Given the description of an element on the screen output the (x, y) to click on. 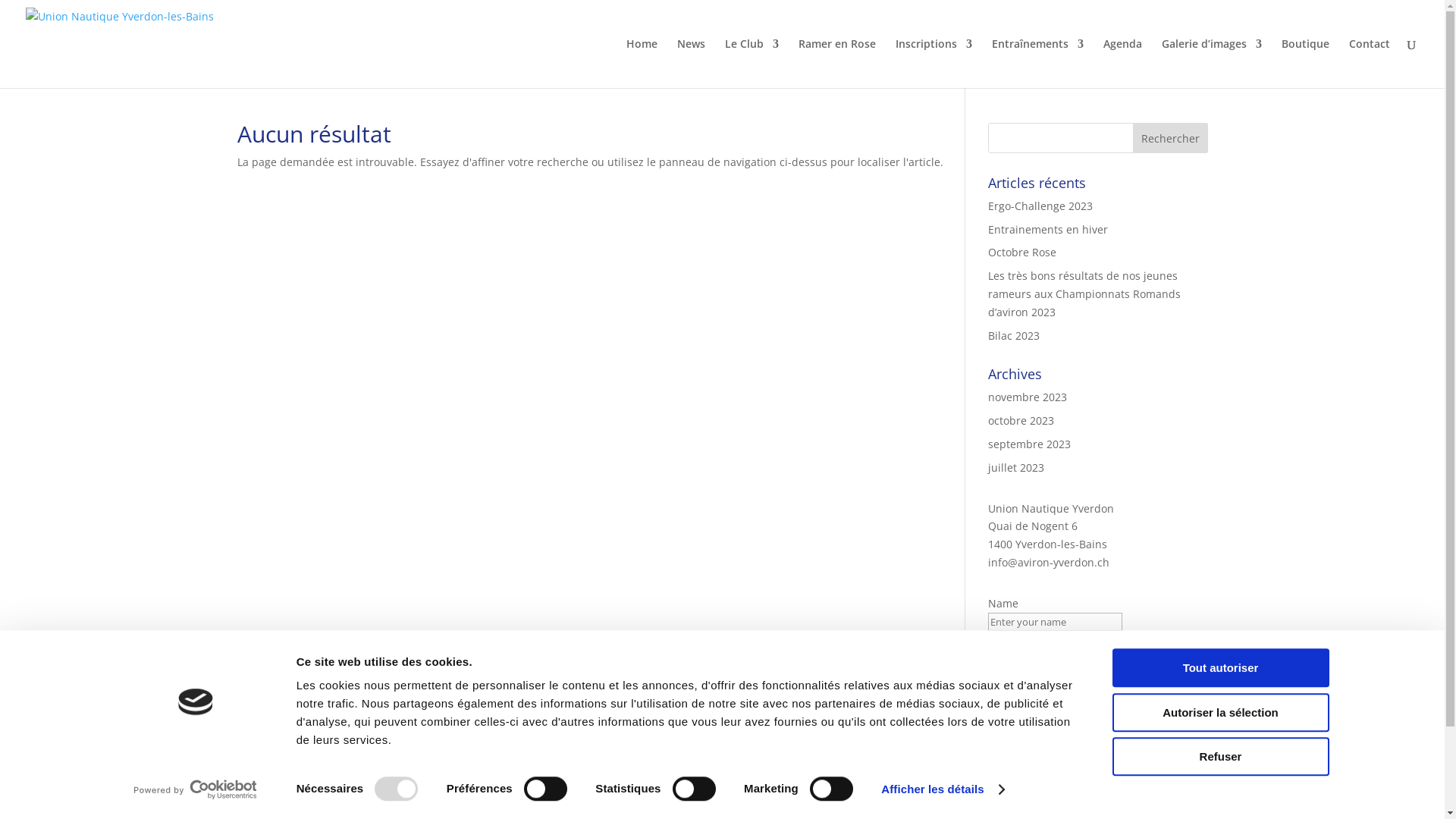
Refuser Element type: text (1219, 756)
Subscribe Element type: text (1015, 688)
Home Element type: text (641, 62)
Le Club Element type: text (751, 62)
Tout autoriser Element type: text (1219, 667)
Entrainements en hiver Element type: text (1047, 229)
Ramer en Rose Element type: text (836, 62)
septembre 2023 Element type: text (1028, 443)
Rechercher Element type: text (1170, 137)
Ergo-Challenge 2023 Element type: text (1039, 205)
News Element type: text (691, 62)
novembre 2023 Element type: text (1026, 396)
Octobre Rose Element type: text (1021, 251)
octobre 2023 Element type: text (1020, 420)
Agenda Element type: text (1122, 62)
Boutique Element type: text (1305, 62)
juillet 2023 Element type: text (1015, 467)
Contact Element type: text (1369, 62)
Bilac 2023 Element type: text (1012, 335)
Inscriptions Element type: text (933, 62)
